Given the description of an element on the screen output the (x, y) to click on. 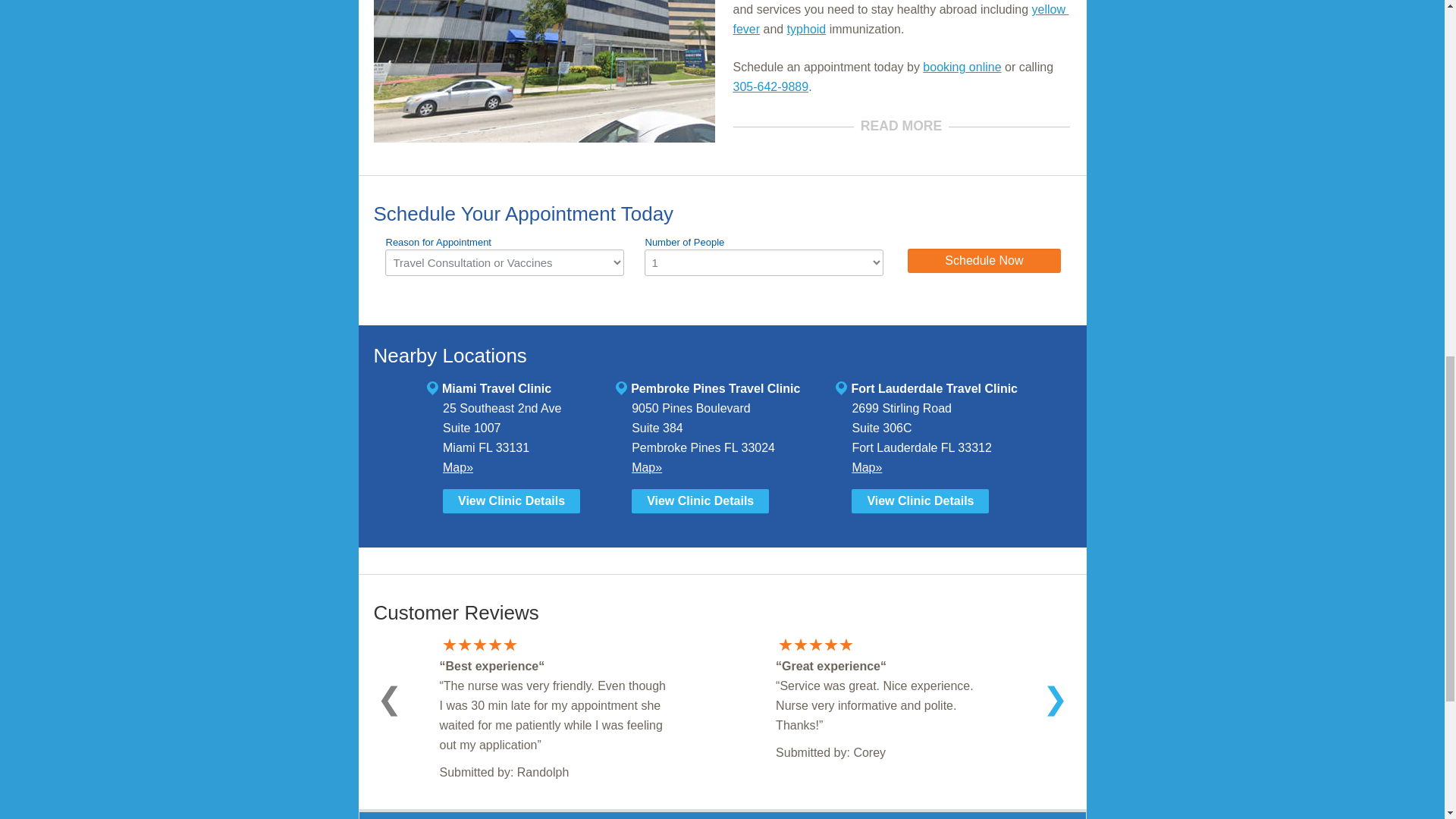
Schedule Now (983, 260)
